Given the description of an element on the screen output the (x, y) to click on. 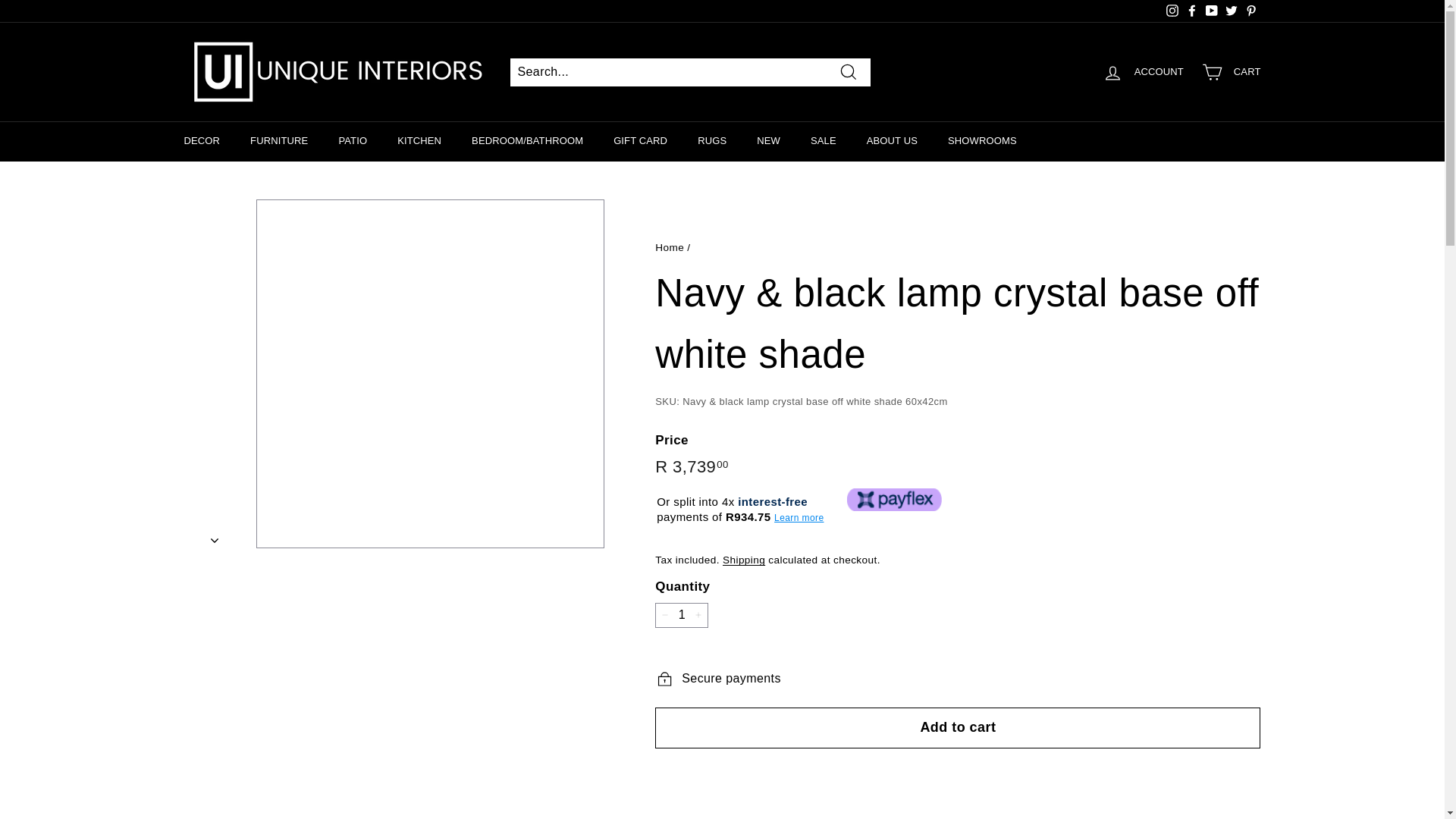
DECOR (201, 141)
YouTube (1211, 11)
Pinterest (1250, 11)
Back to the frontpage (669, 247)
Unique Interiors Lifestyle on Pinterest (1250, 11)
Unique Interiors Lifestyle on Instagram (1170, 11)
1 (681, 615)
Facebook (1190, 11)
Twitter (1230, 11)
Unique Interiors Lifestyle on YouTube (1211, 11)
